Given the description of an element on the screen output the (x, y) to click on. 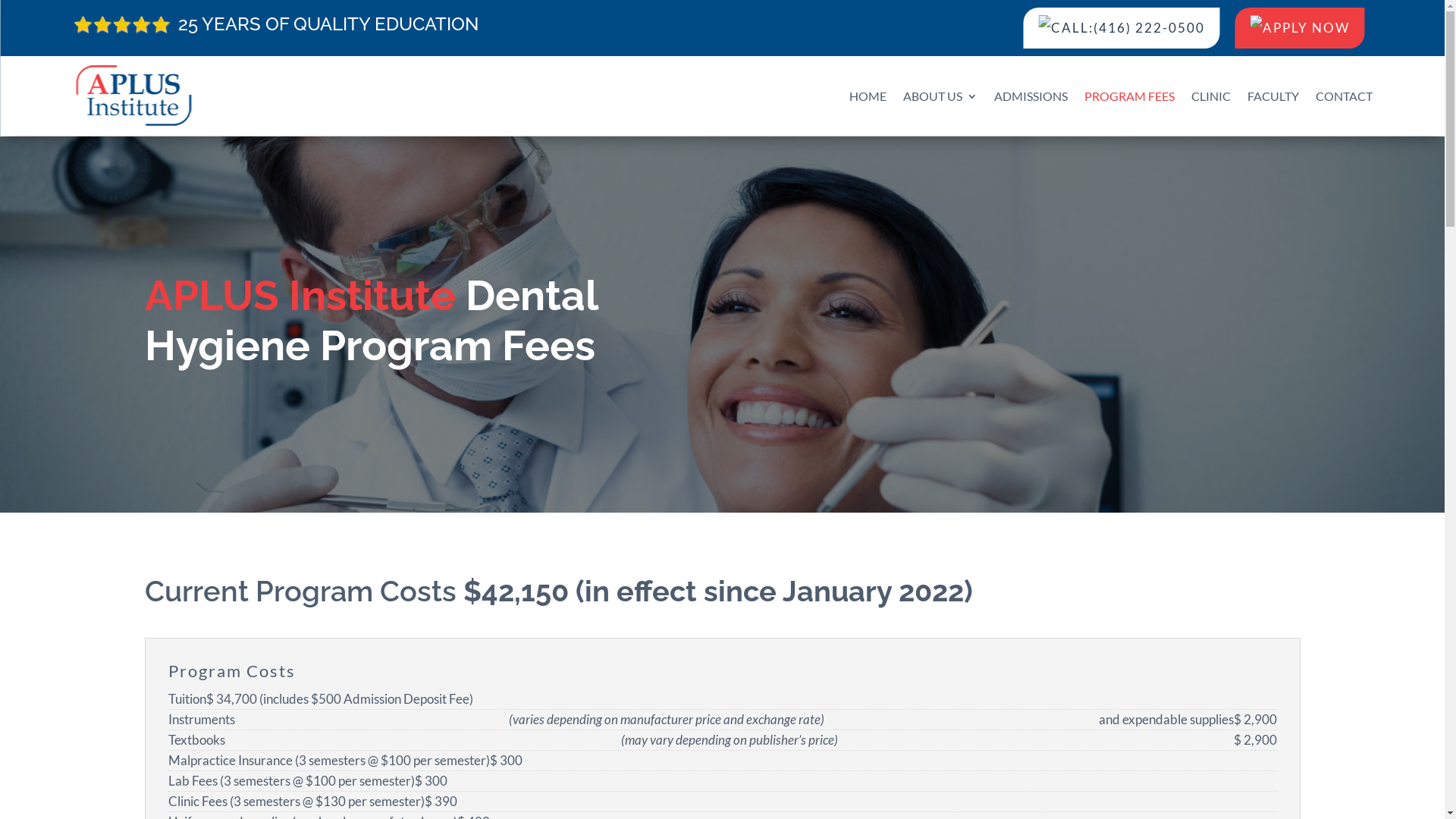
ADMISSIONS Element type: text (1030, 95)
PROGRAM FEES Element type: text (1129, 95)
CONTACT Element type: text (1343, 95)
CLINIC Element type: text (1210, 95)
HOME Element type: text (867, 95)
CALL:(416) 222-0500 Element type: text (1121, 27)
ABOUT US Element type: text (940, 95)
FACULTY Element type: text (1273, 95)
APPLY NOW Element type: text (1300, 27)
